Given the description of an element on the screen output the (x, y) to click on. 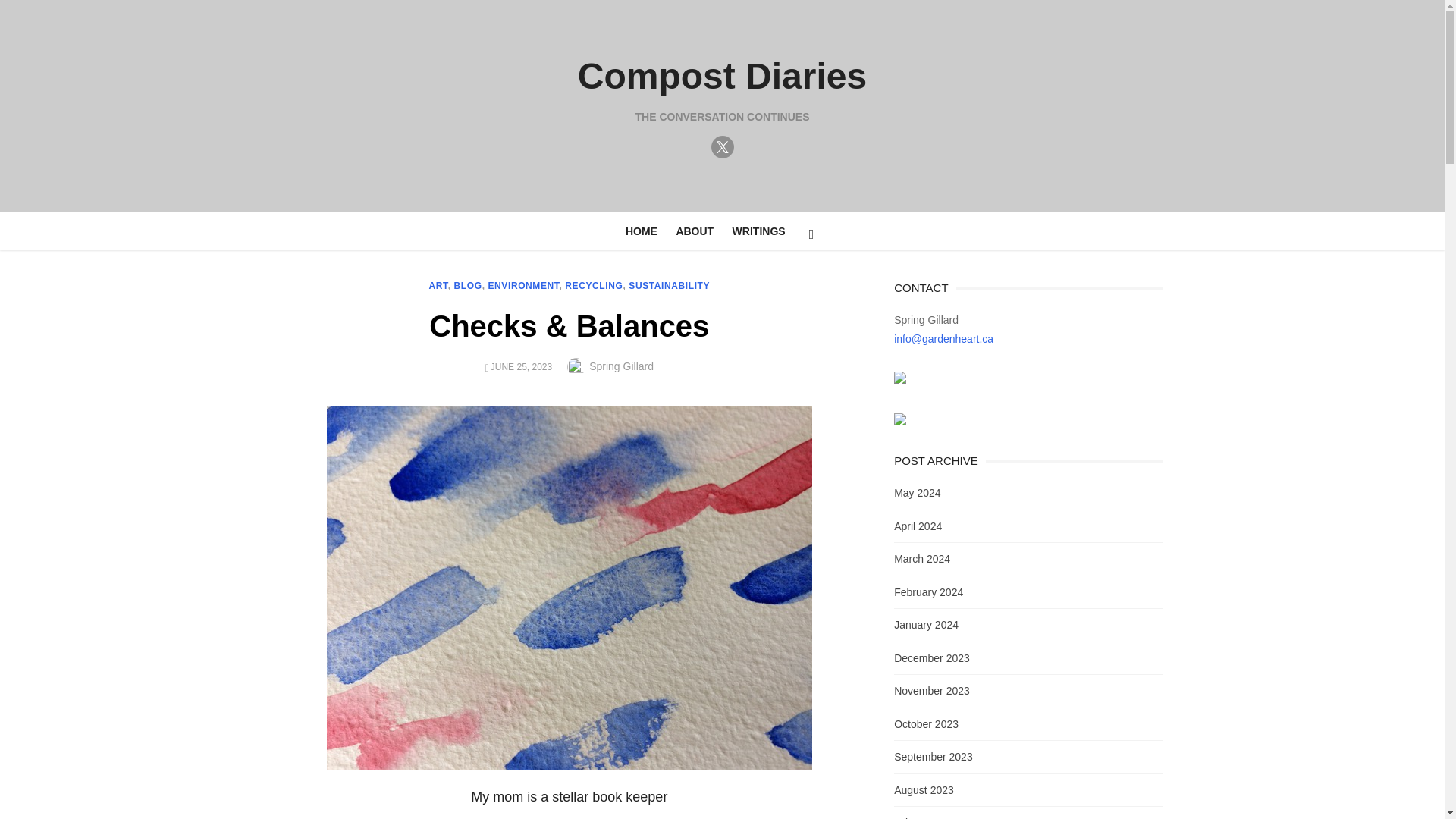
April 2024 (917, 526)
December 2023 (931, 657)
ART (438, 285)
Compost Diaries (722, 76)
February 2024 (927, 591)
March 2024 (921, 558)
BLOG (467, 285)
JUNE 25, 2023 (520, 366)
WRITINGS (759, 231)
ENVIRONMENT (523, 285)
